Given the description of an element on the screen output the (x, y) to click on. 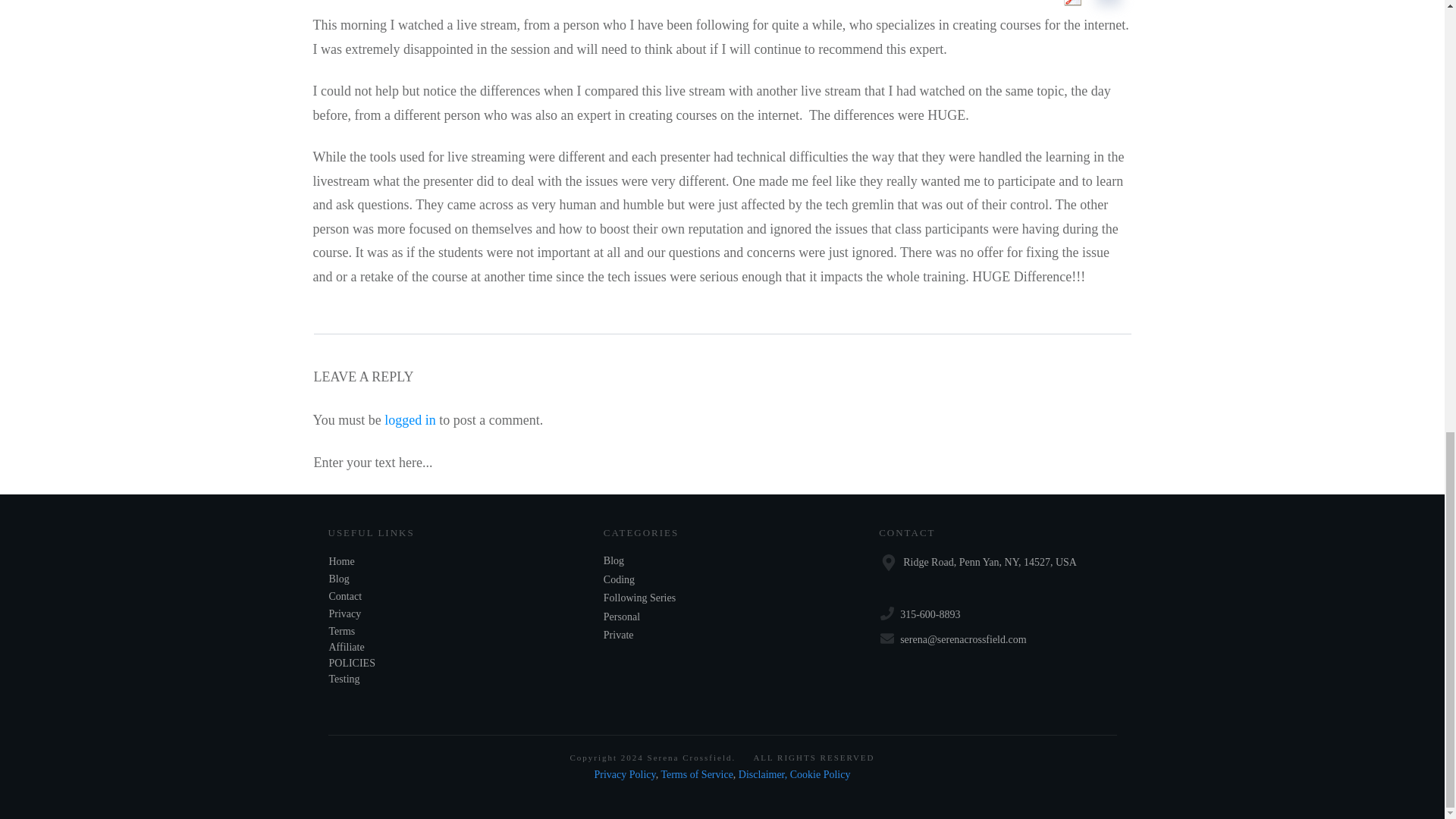
View PDF (1068, 4)
Personal (622, 617)
Blog (614, 560)
Disclaimer, (762, 774)
Coding (619, 579)
Cookie Policy (820, 774)
Privacy (345, 613)
Terms (342, 631)
Home (342, 561)
logged in (409, 419)
Print Content (1108, 4)
Following Series (639, 597)
Terms of Service (696, 774)
Private (618, 635)
Privacy Policy (625, 774)
